Given the description of an element on the screen output the (x, y) to click on. 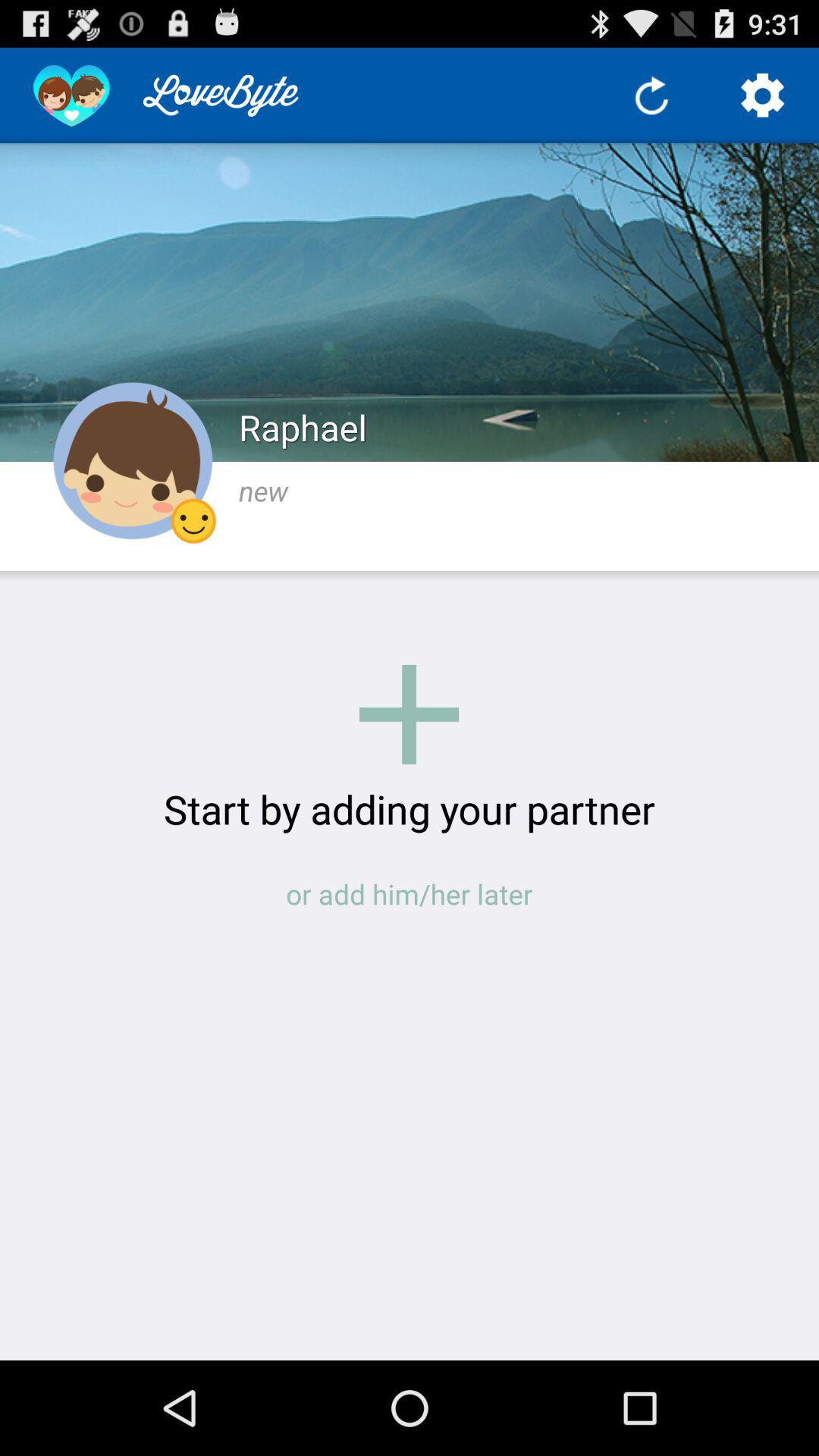
image placeholder (408, 714)
